Given the description of an element on the screen output the (x, y) to click on. 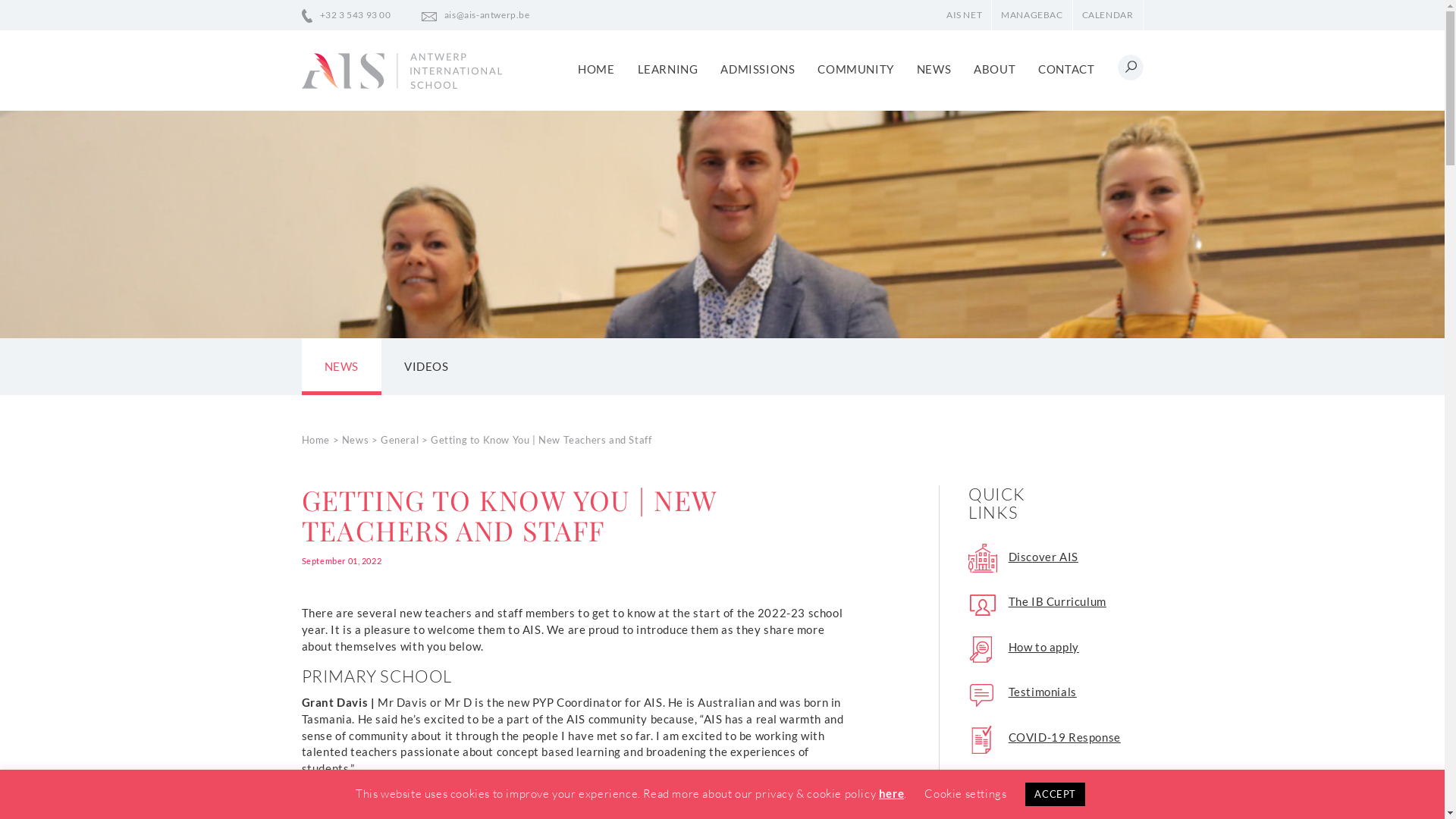
Cookie settings Element type: text (965, 793)
here Element type: text (890, 793)
MANAGEBAC Element type: text (1031, 15)
COVID-19 Response Element type: text (1044, 736)
HOME Element type: text (595, 69)
NEWS Element type: text (933, 69)
The IB Curriculum Element type: text (1037, 601)
ABOUT Element type: text (994, 69)
+32 3 543 93 00 Element type: text (346, 14)
How to apply Element type: text (1023, 646)
Discover AIS Element type: text (1023, 556)
ais@ais-antwerp.be Element type: text (475, 14)
News Element type: text (355, 439)
VIDEOS Element type: text (426, 366)
CONTACT Element type: text (1066, 69)
NEWS Element type: text (341, 366)
Testimonials Element type: text (1022, 691)
General Element type: text (399, 439)
ADMISSIONS Element type: text (757, 69)
ACCEPT Element type: text (1055, 794)
COMMUNITY Element type: text (855, 69)
CALENDAR Element type: text (1107, 15)
AIS NET Element type: text (964, 15)
LEARNING Element type: text (667, 69)
Home Element type: text (315, 439)
